Given the description of an element on the screen output the (x, y) to click on. 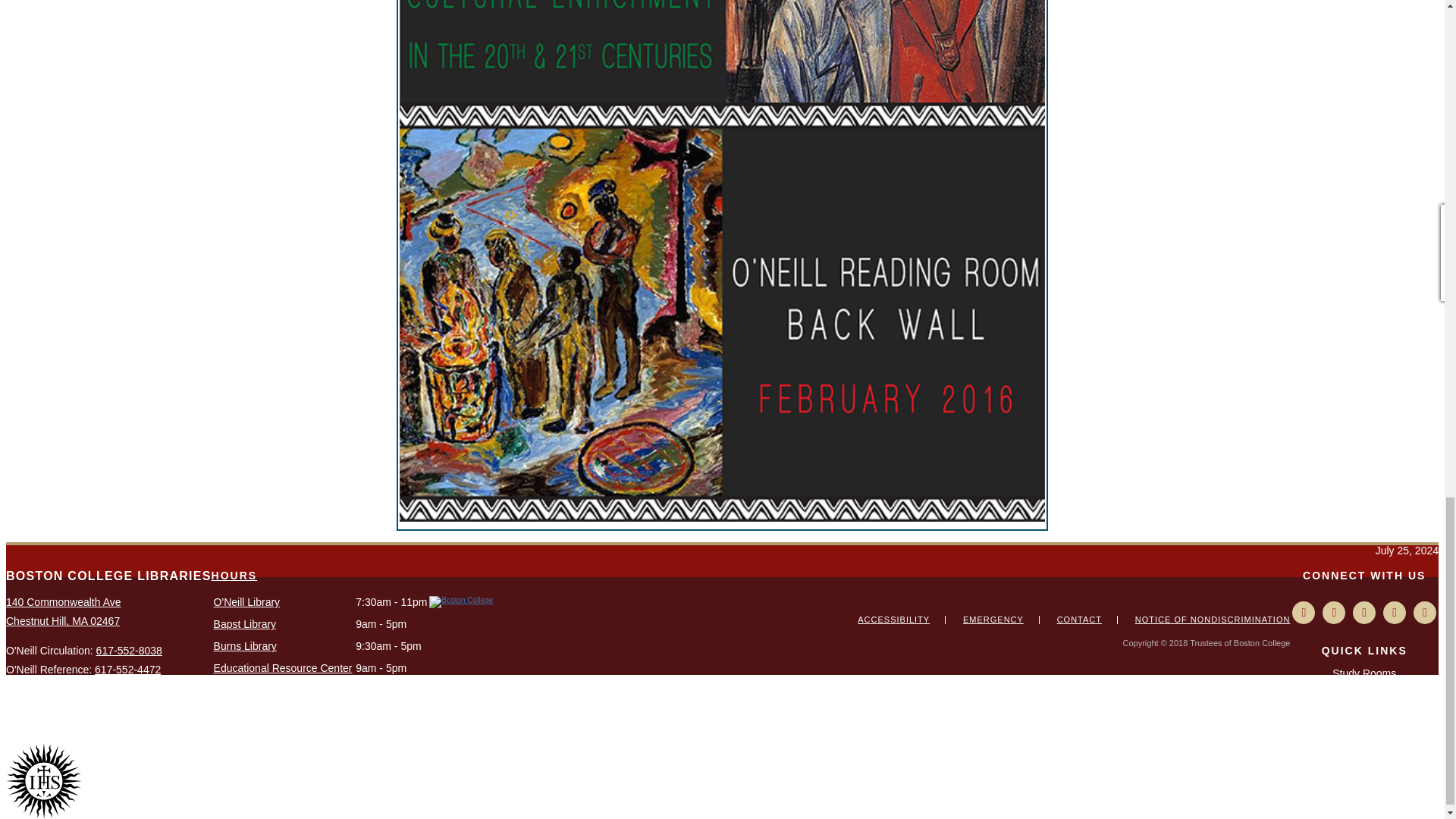
O'Neill Library Facebook (1333, 612)
O'Neill Library on Twitter (1363, 612)
Boston College Library on YouTube (1394, 612)
Boston College Library Blogs (1303, 612)
